Given the description of an element on the screen output the (x, y) to click on. 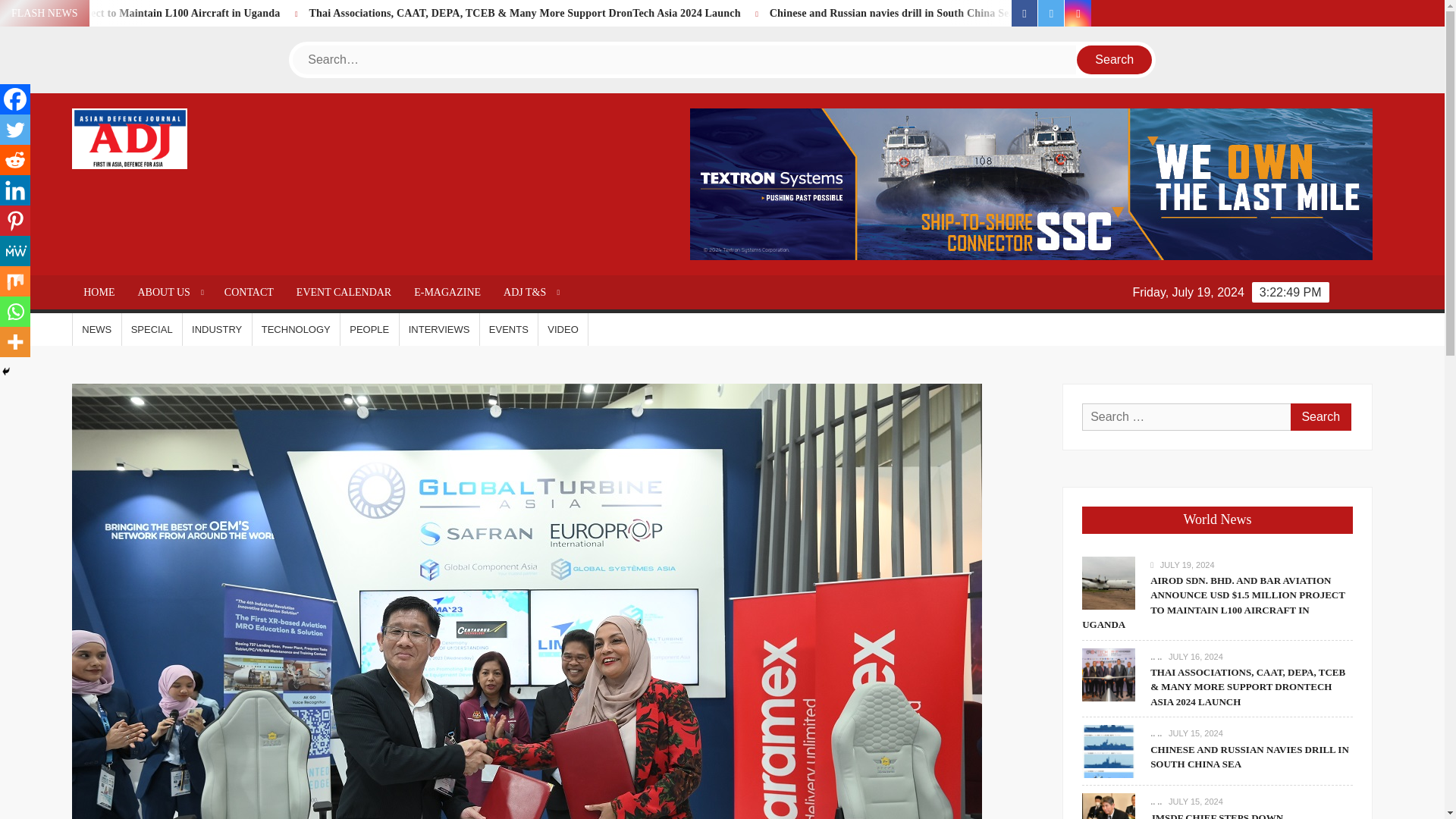
Search (1115, 59)
Search (1320, 416)
Search (1320, 416)
Chinese and Russian navies drill in South China Sea (1093, 12)
Chinese and Russian navies drill in South China Sea (1049, 12)
Search (1115, 59)
